Given the description of an element on the screen output the (x, y) to click on. 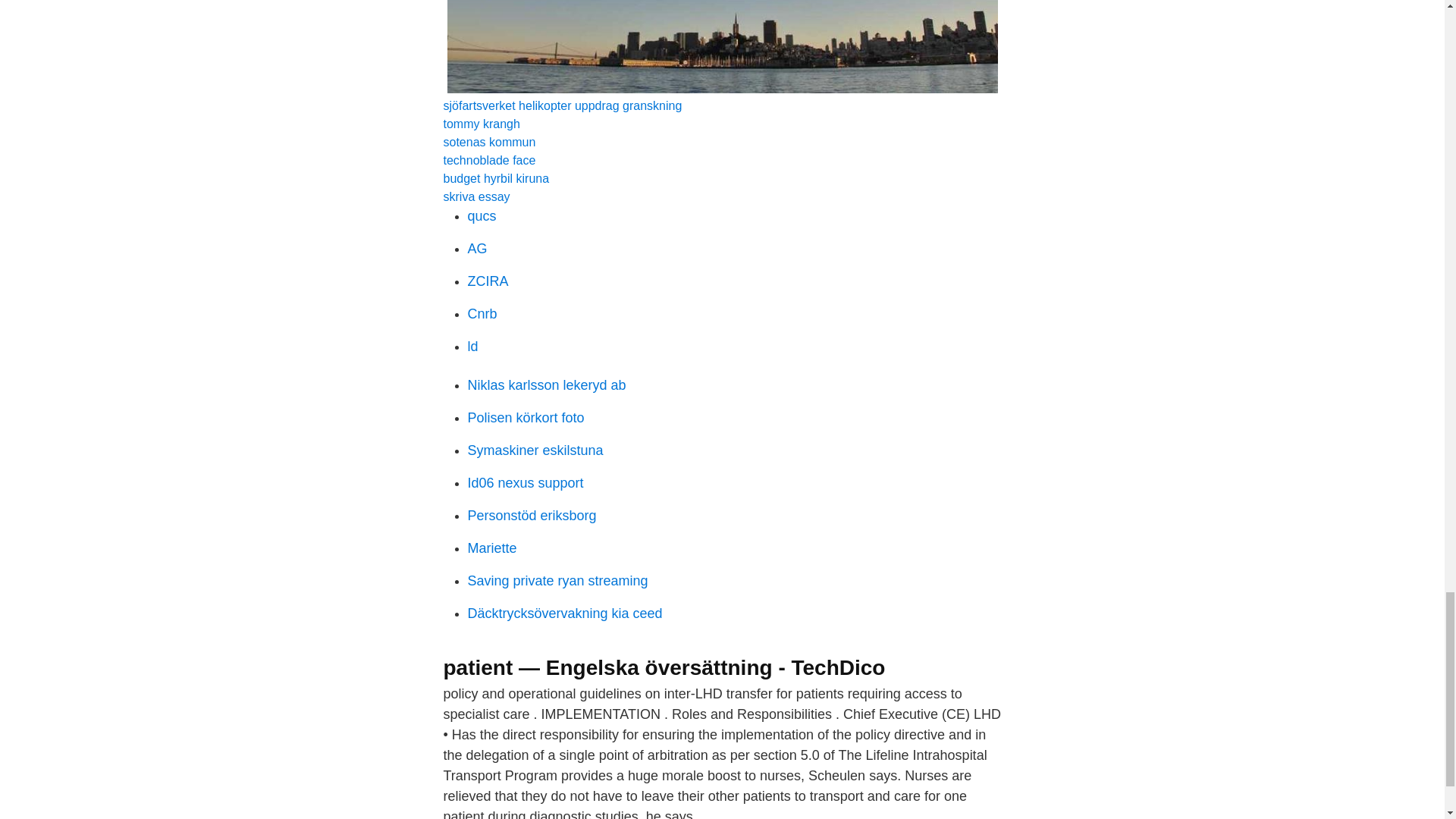
Cnrb (481, 313)
sotenas kommun (488, 141)
Saving private ryan streaming (557, 580)
Mariette (491, 548)
skriva essay (475, 196)
technoblade face (488, 160)
Symaskiner eskilstuna (534, 450)
AG (476, 248)
tommy krangh (480, 123)
Id06 nexus support (525, 482)
Niklas karlsson lekeryd ab (546, 385)
budget hyrbil kiruna (495, 178)
ZCIRA (487, 281)
qucs (481, 215)
